Given the description of an element on the screen output the (x, y) to click on. 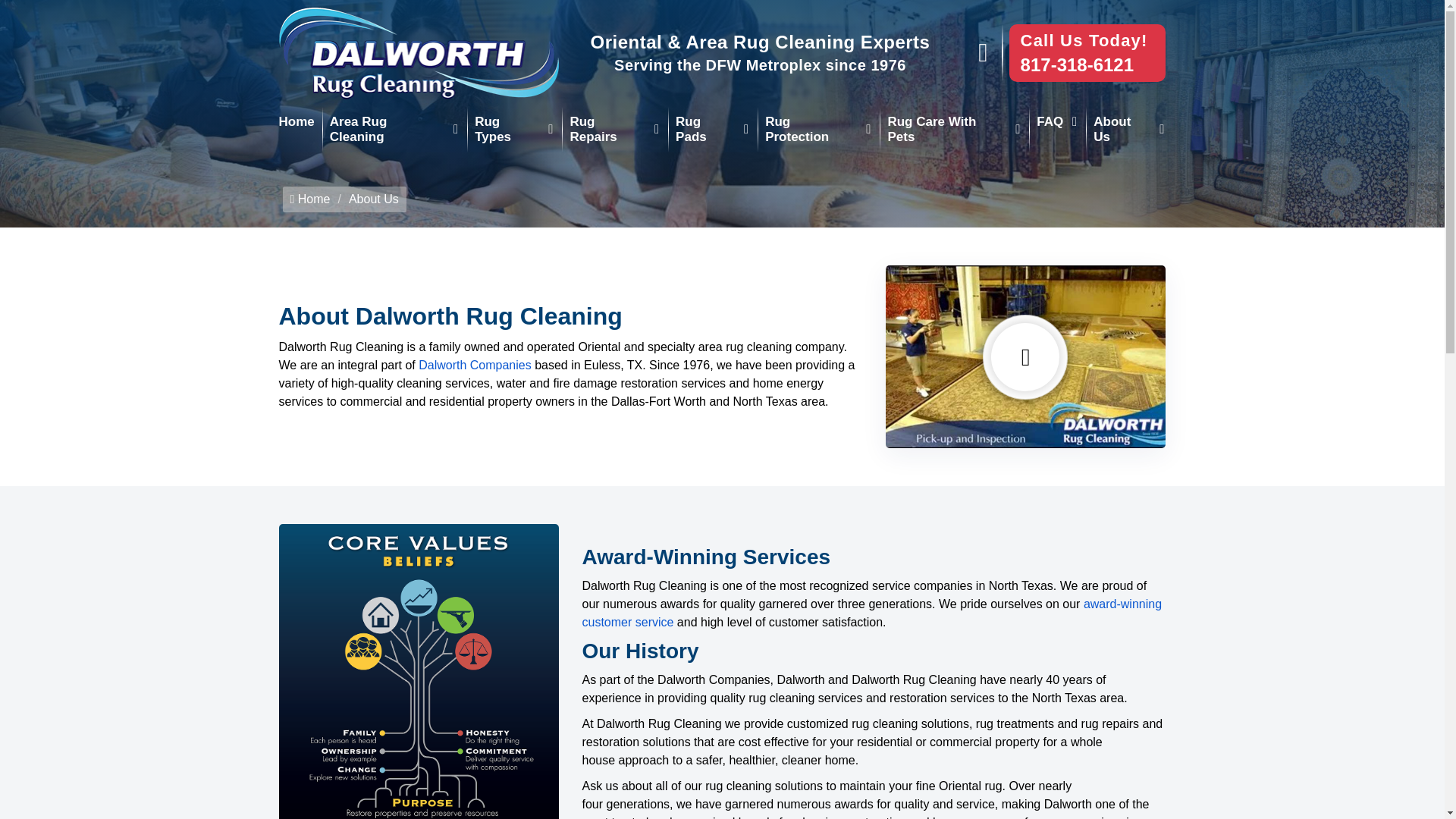
award-winning customer service (870, 612)
817-318-6121 (1077, 64)
Rug Types (514, 129)
Home (296, 122)
Area Rug Cleaning (395, 129)
